Given the description of an element on the screen output the (x, y) to click on. 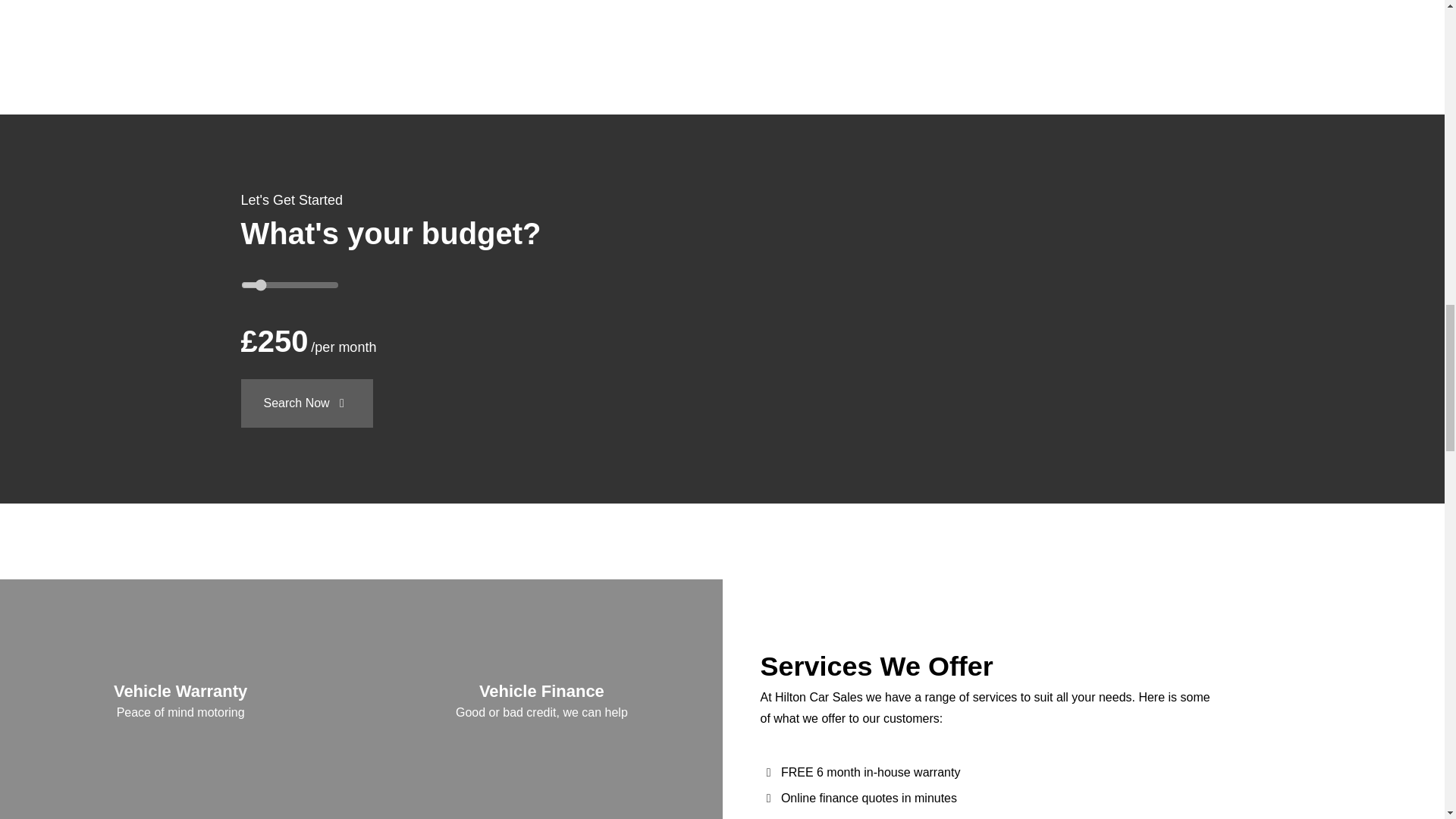
250 (290, 285)
